Given the description of an element on the screen output the (x, y) to click on. 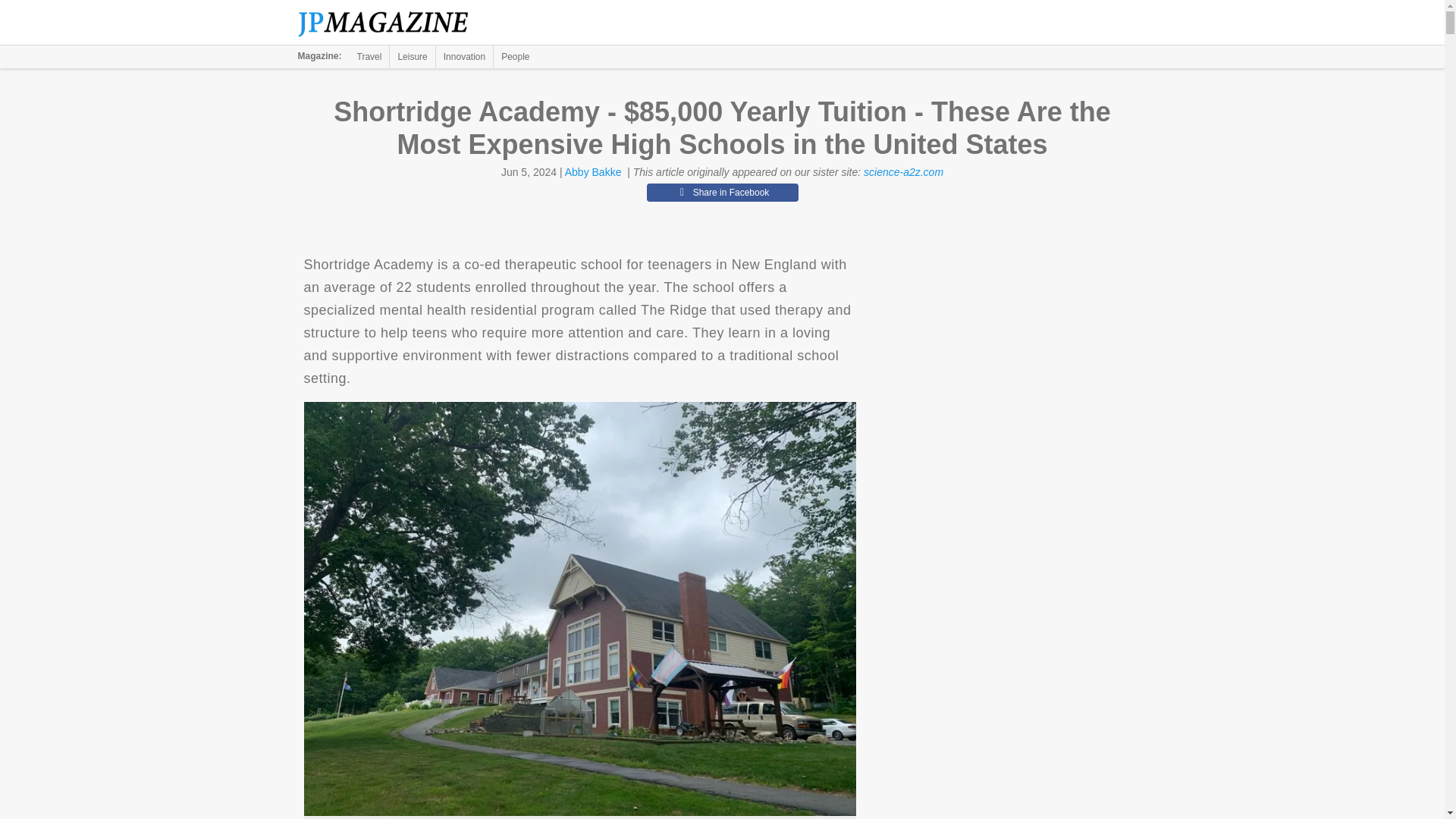
Innovation (464, 56)
The Jerusalem Post Magazine (391, 22)
Leisure (411, 56)
science-a2z.com (903, 172)
Travel (369, 56)
Abby Bakke (592, 172)
People (515, 56)
Share in Facebook (721, 192)
